Given the description of an element on the screen output the (x, y) to click on. 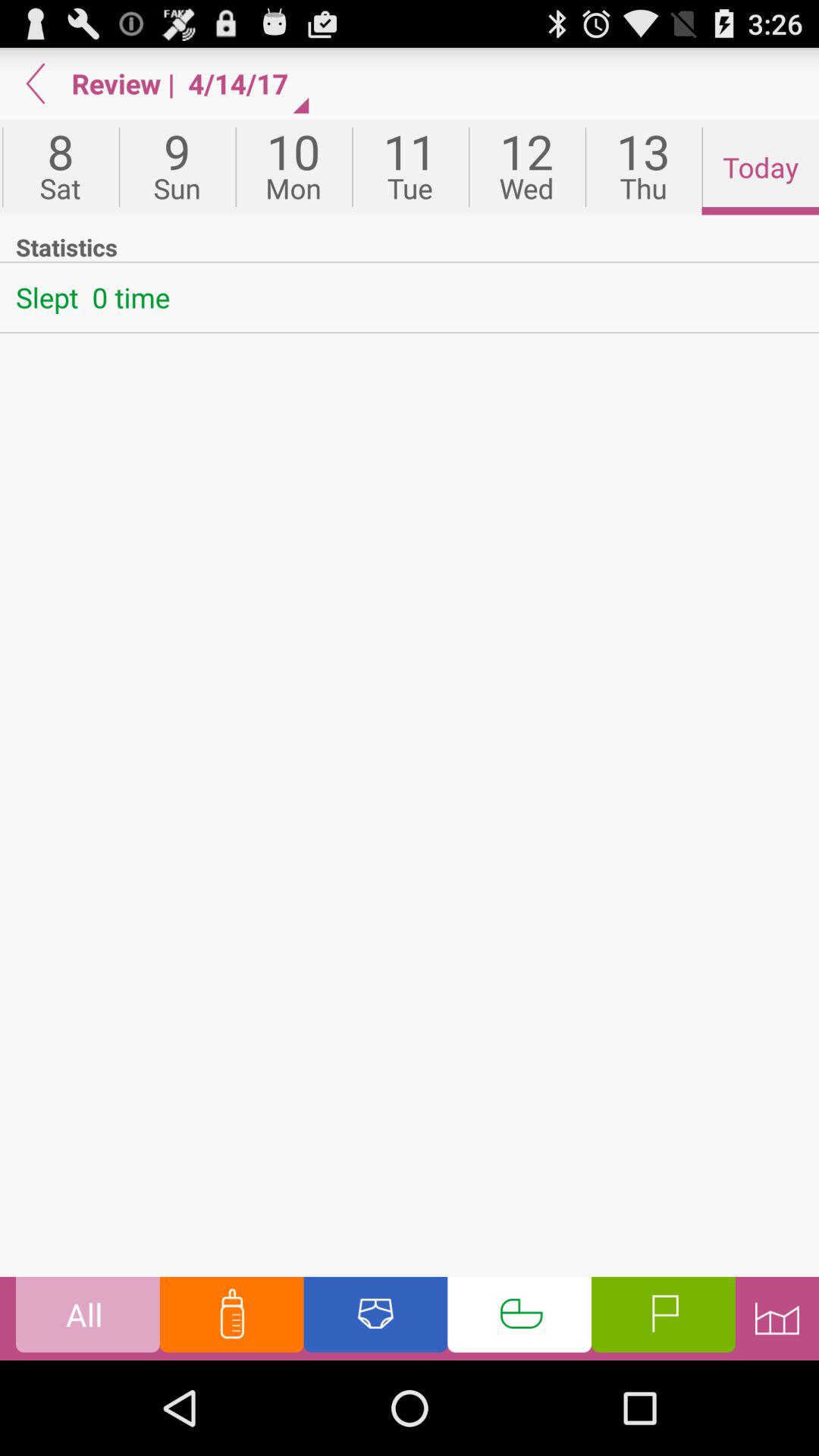
view graphs (777, 1318)
